Given the description of an element on the screen output the (x, y) to click on. 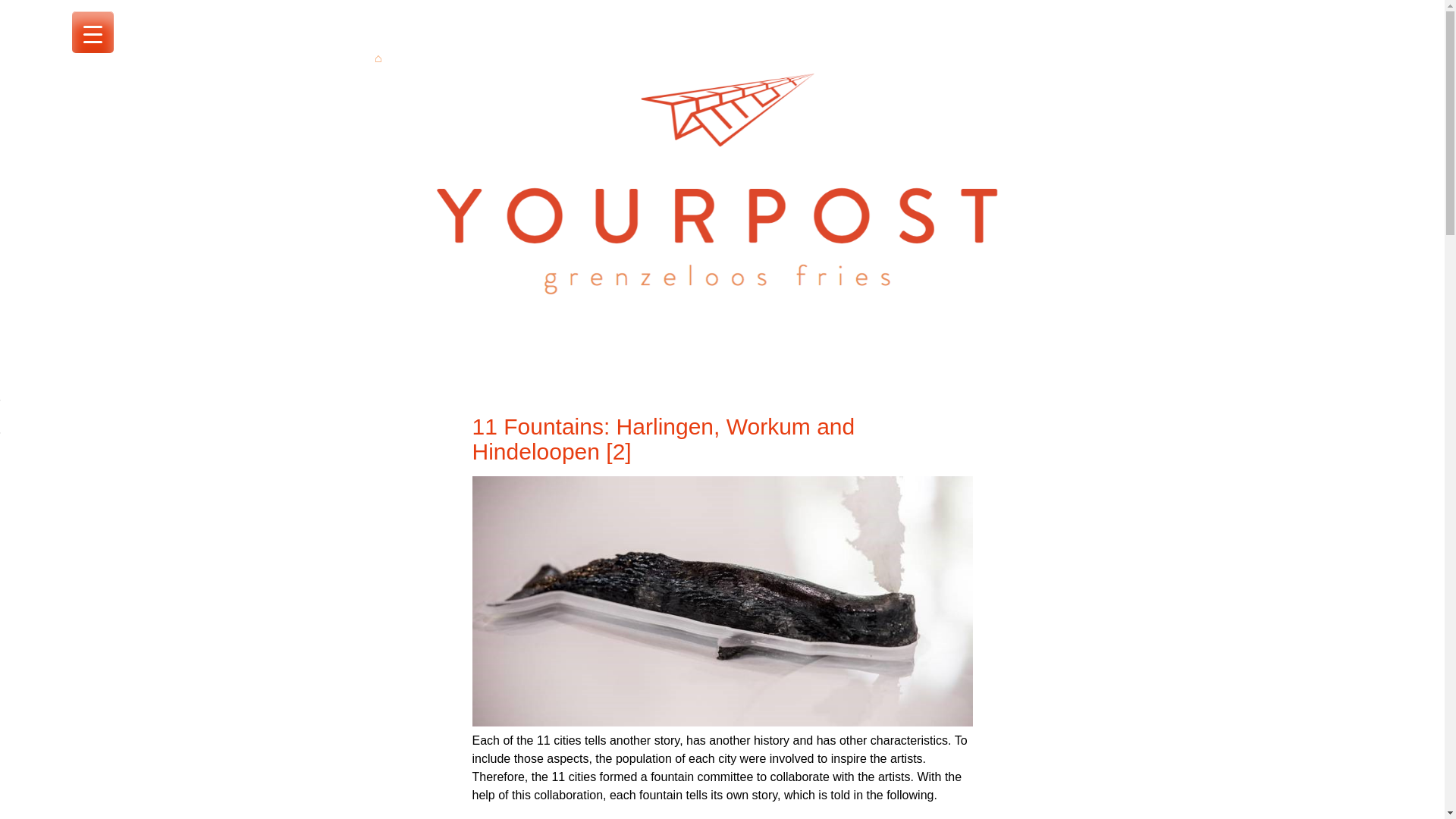
YourPost.frl (429, 390)
Home (378, 59)
Home (378, 59)
YourPost.frl (721, 347)
Search (24, 9)
YourPost.frl (429, 390)
